Given the description of an element on the screen output the (x, y) to click on. 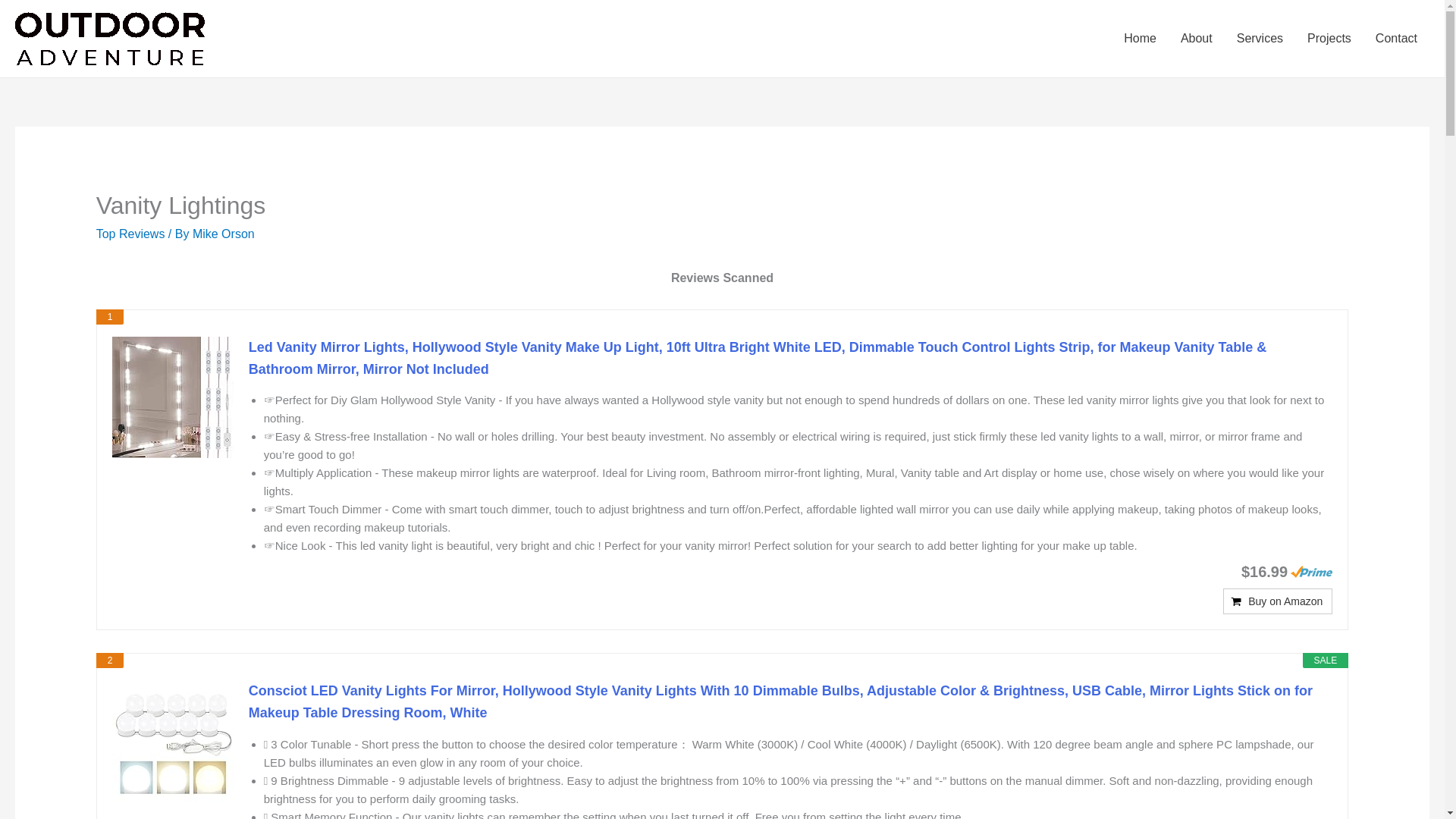
Top Reviews (130, 233)
Services (1259, 38)
Amazon Prime (1311, 571)
Mike Orson (223, 233)
View all posts by Mike Orson (223, 233)
Buy on Amazon (1277, 601)
Buy on Amazon (1277, 601)
